Given the description of an element on the screen output the (x, y) to click on. 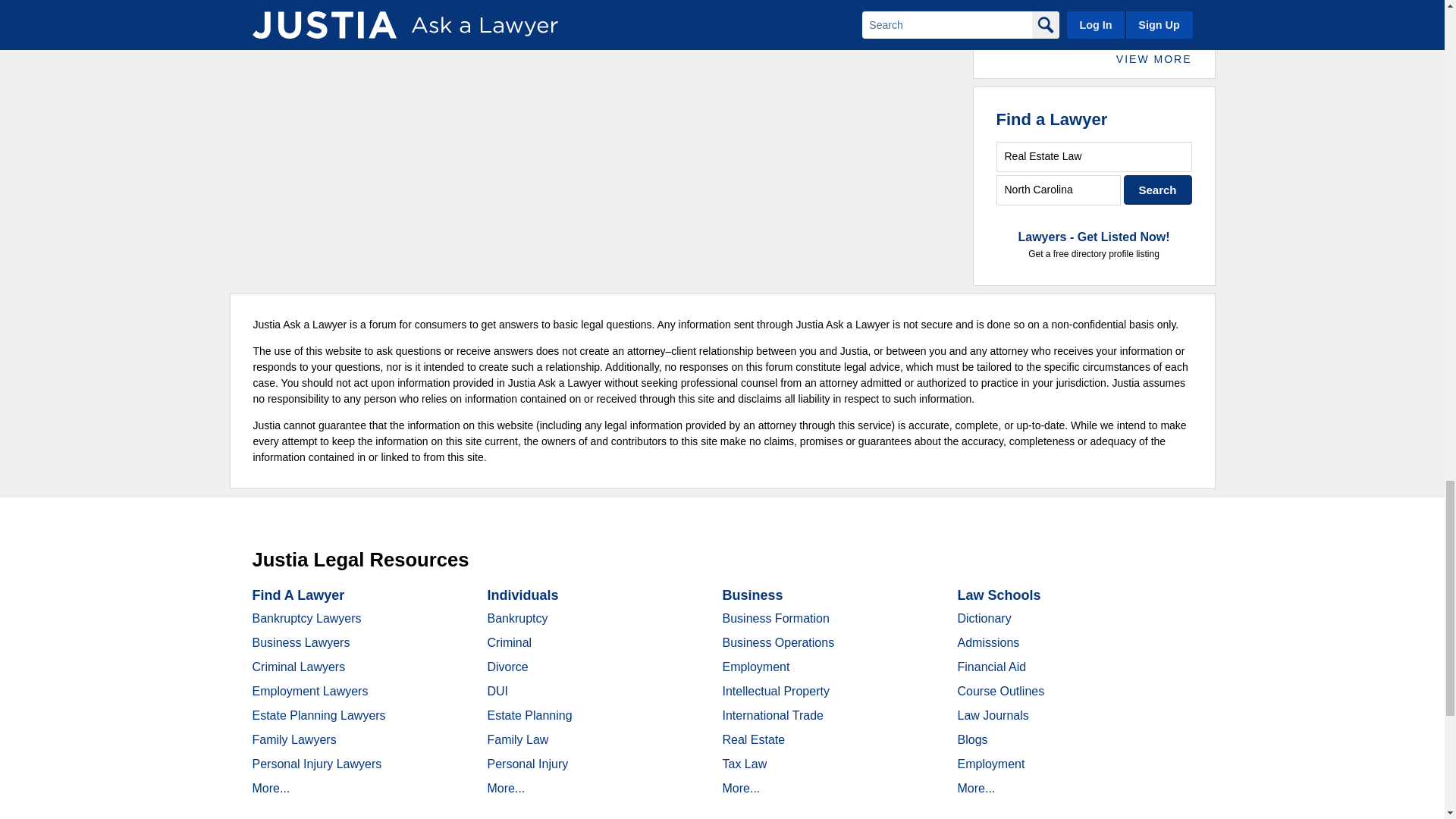
North Carolina (1058, 189)
Search (1158, 189)
Legal Issue or Lawyer Name (1093, 156)
Real Estate Law (1093, 156)
Search (1158, 189)
City, State (1058, 189)
Ask a Lawyer - Leaderboard - Lawyer Stats (1127, 1)
Ask a Lawyer - Leaderboard - Lawyer Photo (1021, 9)
